Given the description of an element on the screen output the (x, y) to click on. 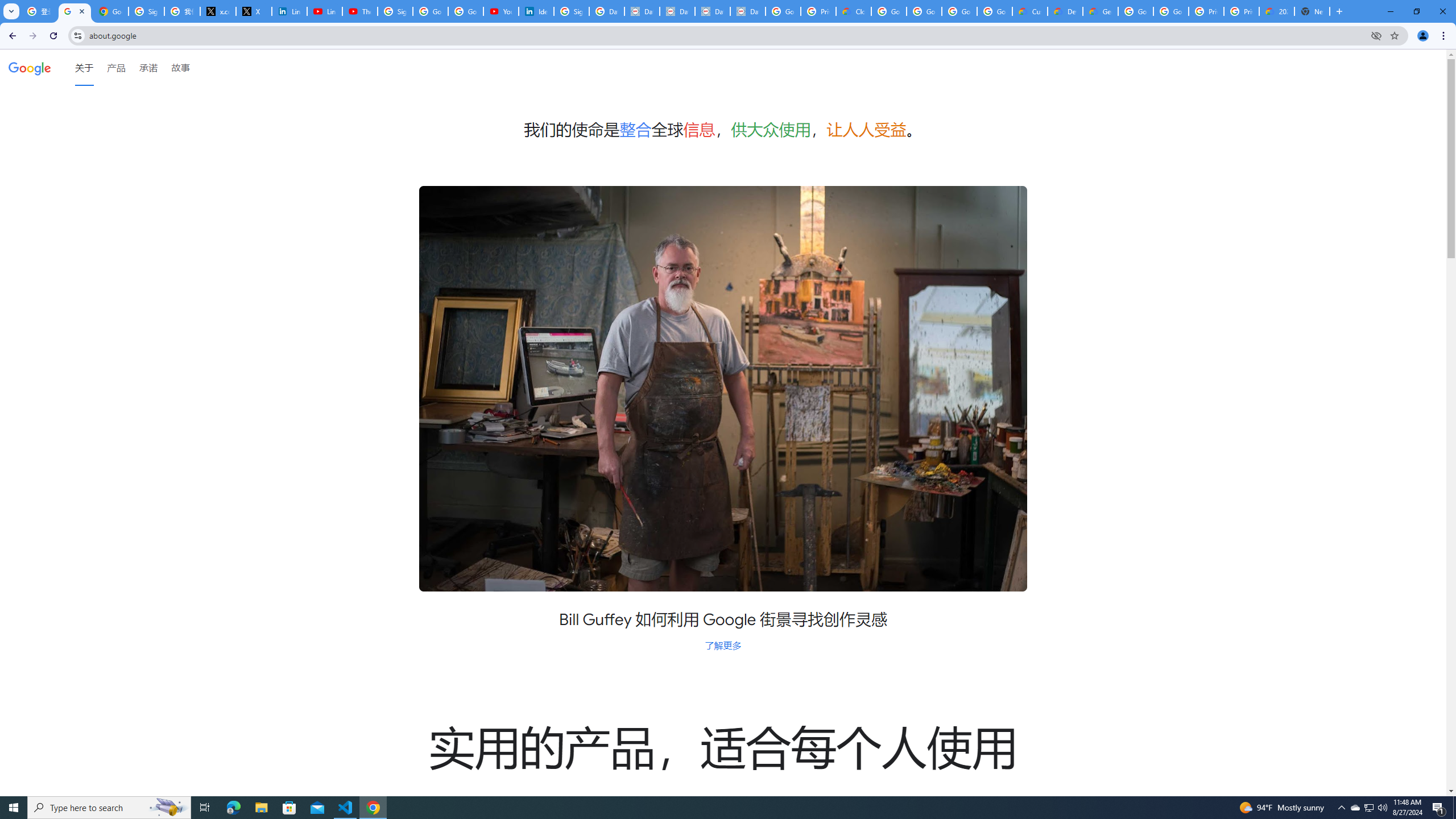
Sign in - Google Accounts (571, 11)
